Given the description of an element on the screen output the (x, y) to click on. 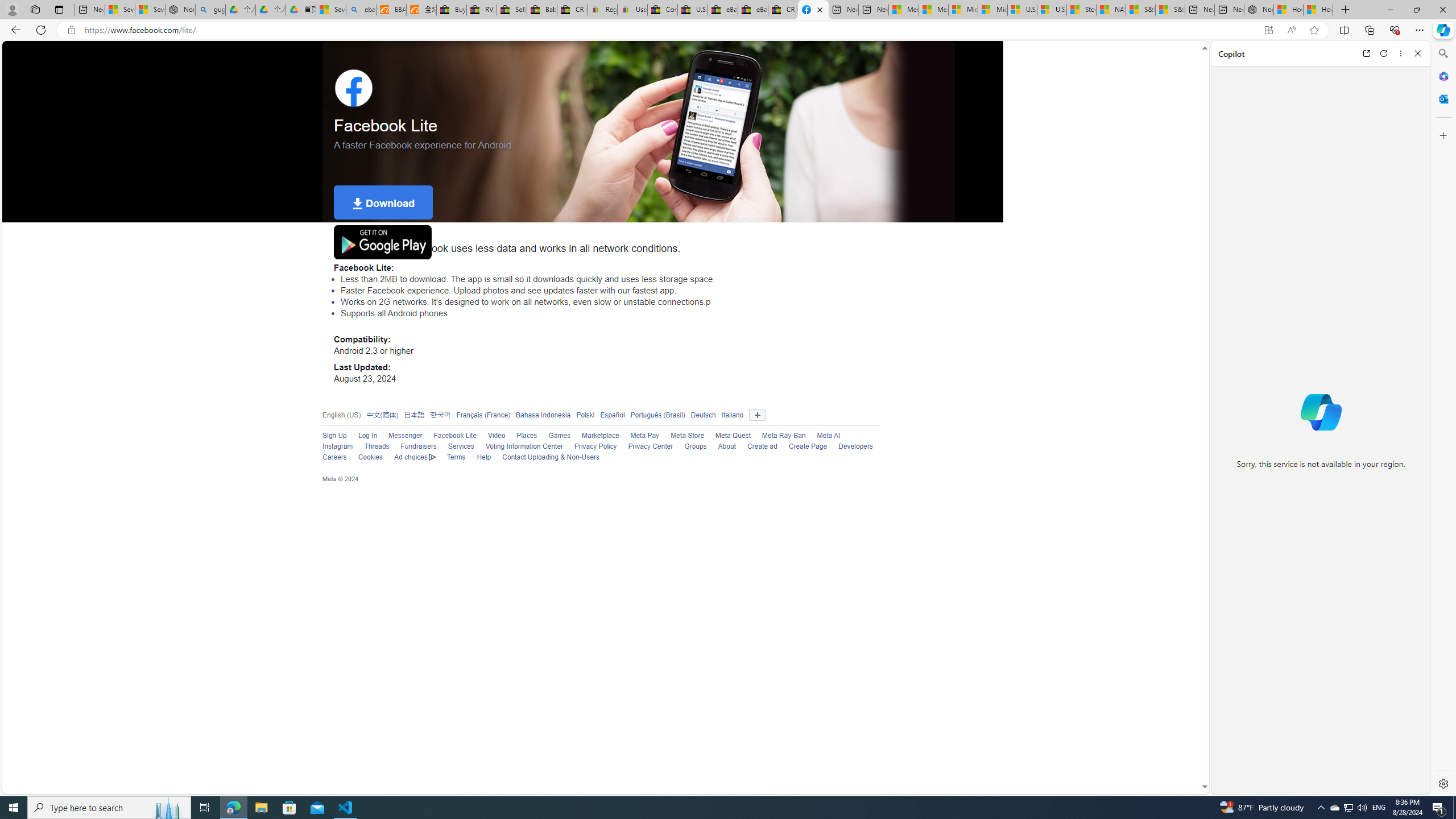
How to Use a Monitor With Your Closed Laptop (1318, 9)
Deutsch (703, 414)
Meta Store (681, 436)
Back (13, 29)
Help (478, 457)
Download (382, 202)
Ad choices (408, 457)
Create Page (802, 446)
Close tab (819, 9)
Careers (328, 457)
Settings (1442, 783)
Customize (1442, 135)
